Given the description of an element on the screen output the (x, y) to click on. 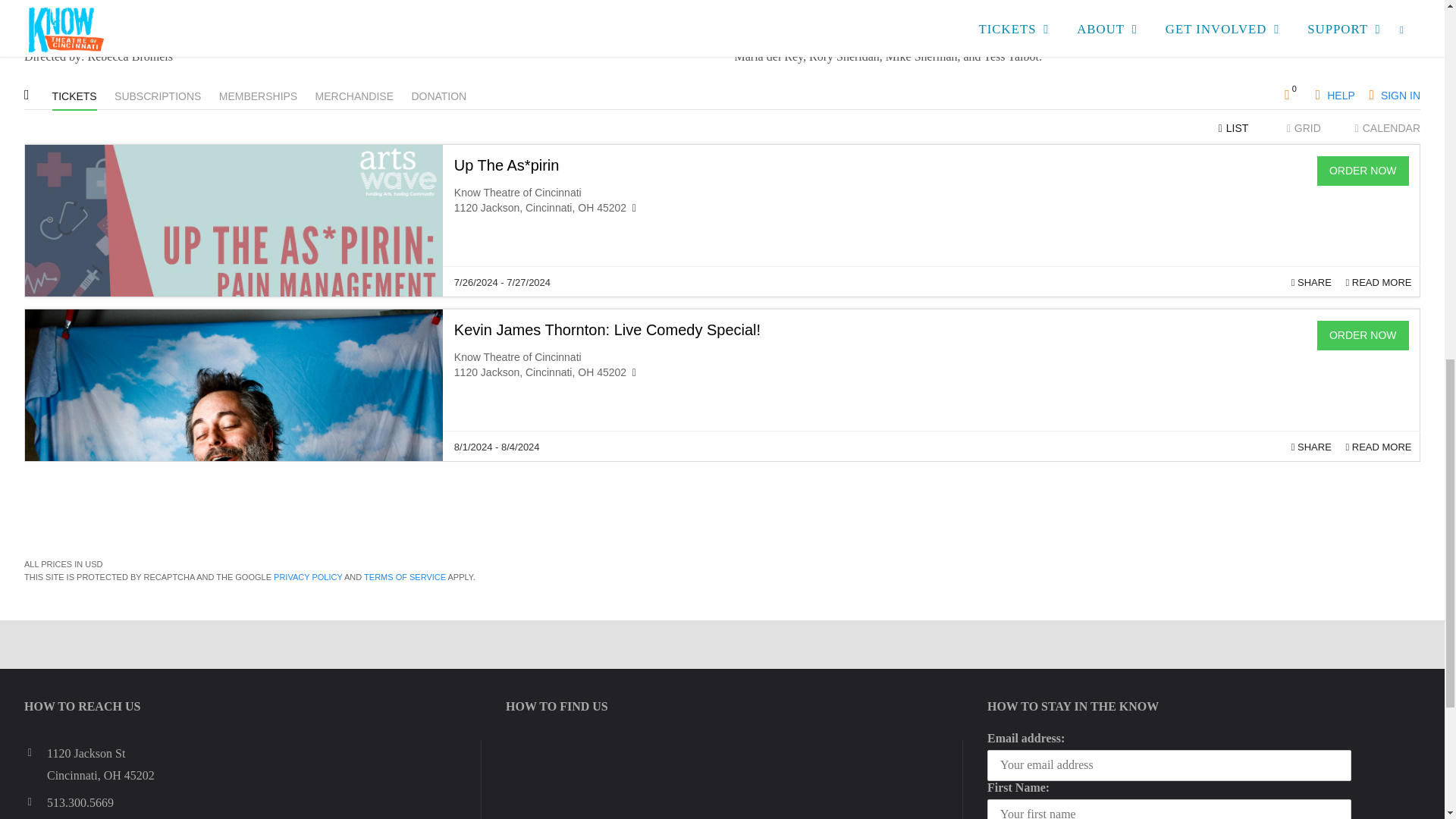
Address (35, 752)
Phone (35, 802)
